Given the description of an element on the screen output the (x, y) to click on. 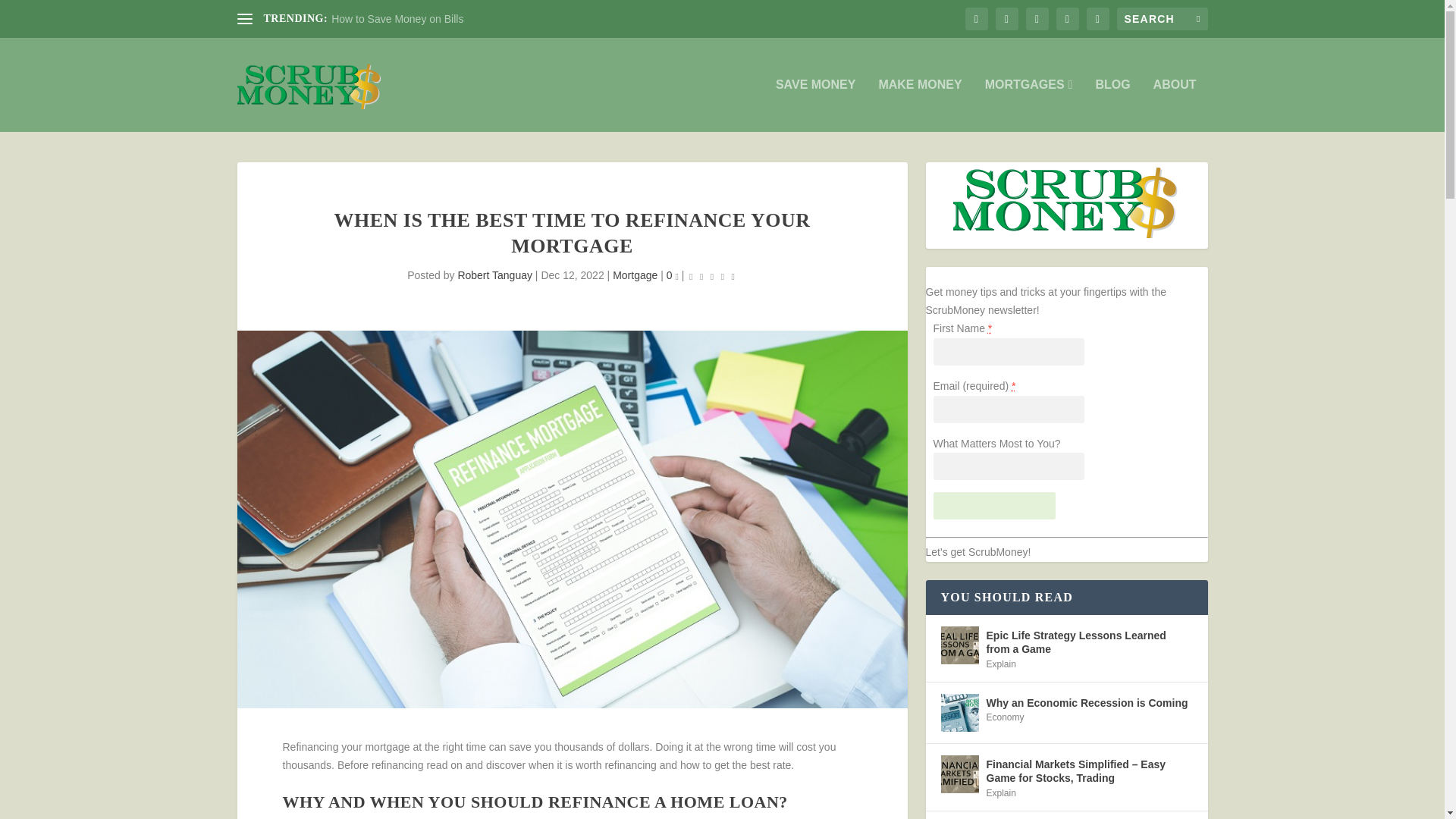
Search for: (1161, 18)
MORTGAGES (1029, 104)
Join ScrubMoney (994, 505)
Posts by Robert Tanguay (494, 275)
Mortgage (635, 275)
SAVE MONEY (816, 104)
MAKE MONEY (918, 104)
Robert Tanguay (494, 275)
Rating: 4.50 (711, 275)
How to Save Money on Bills (397, 19)
